Given the description of an element on the screen output the (x, y) to click on. 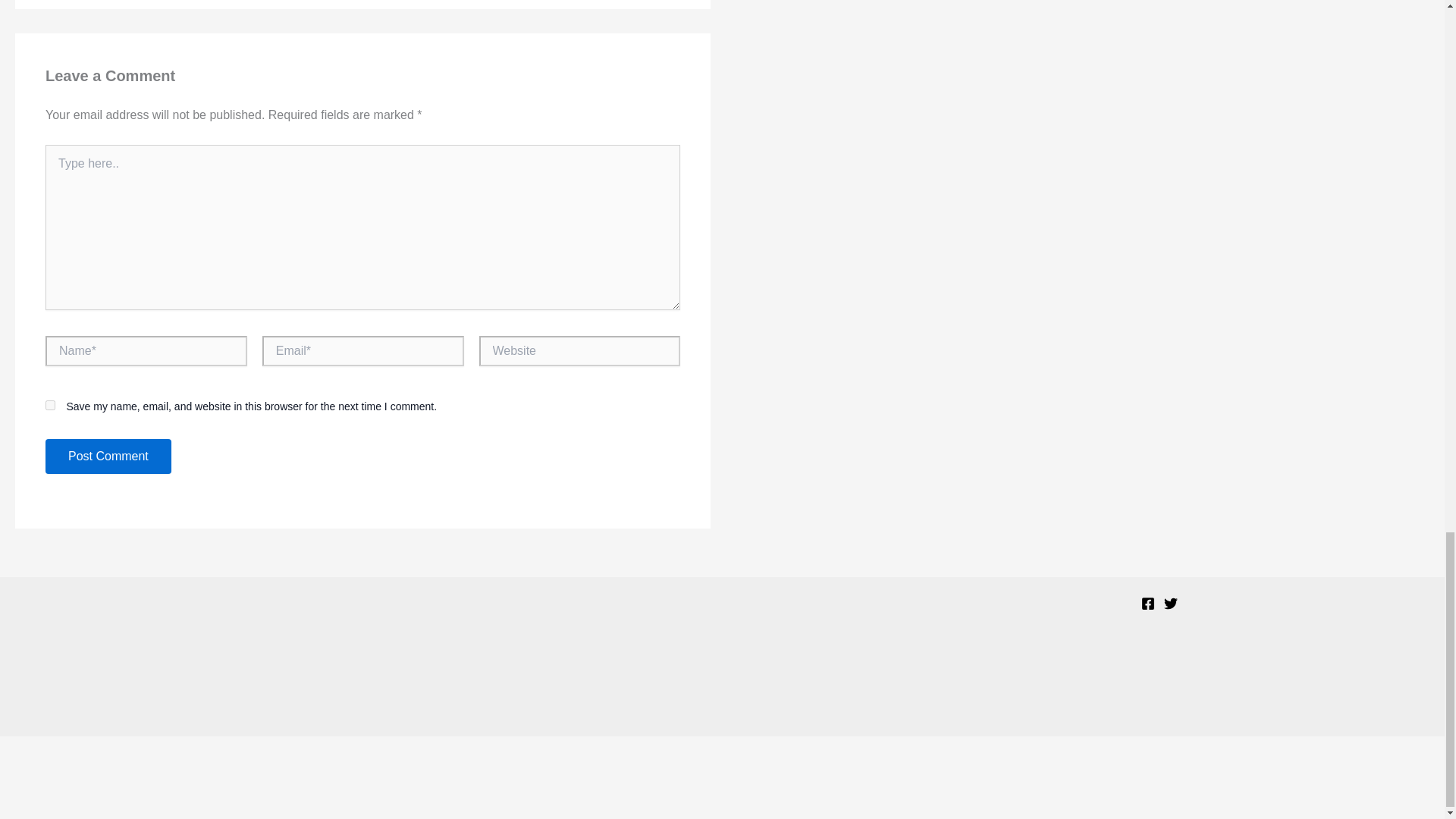
yes (50, 405)
Advertisement (721, 679)
Post Comment (108, 456)
